Given the description of an element on the screen output the (x, y) to click on. 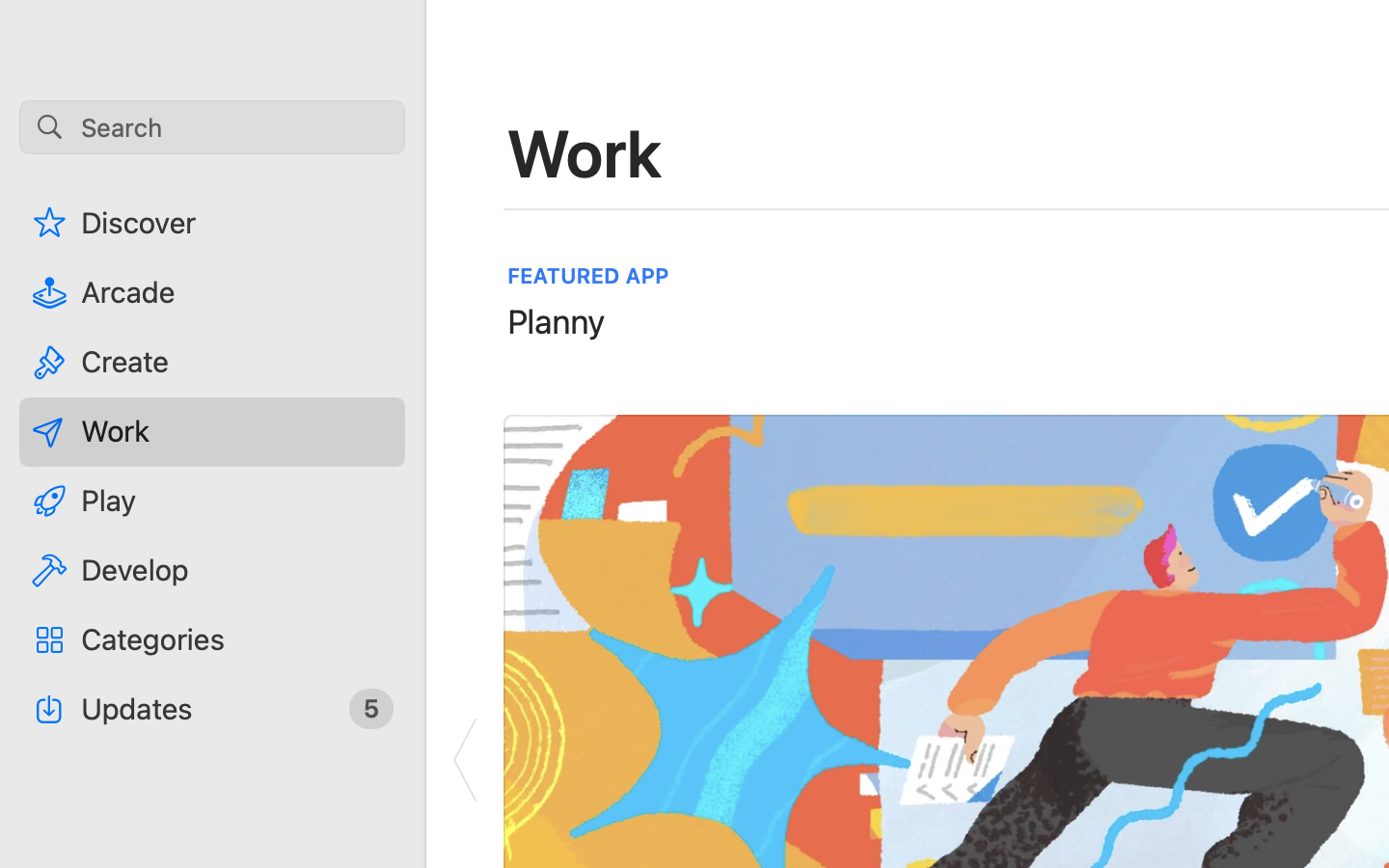
Work Element type: AXStaticText (585, 151)
